Given the description of an element on the screen output the (x, y) to click on. 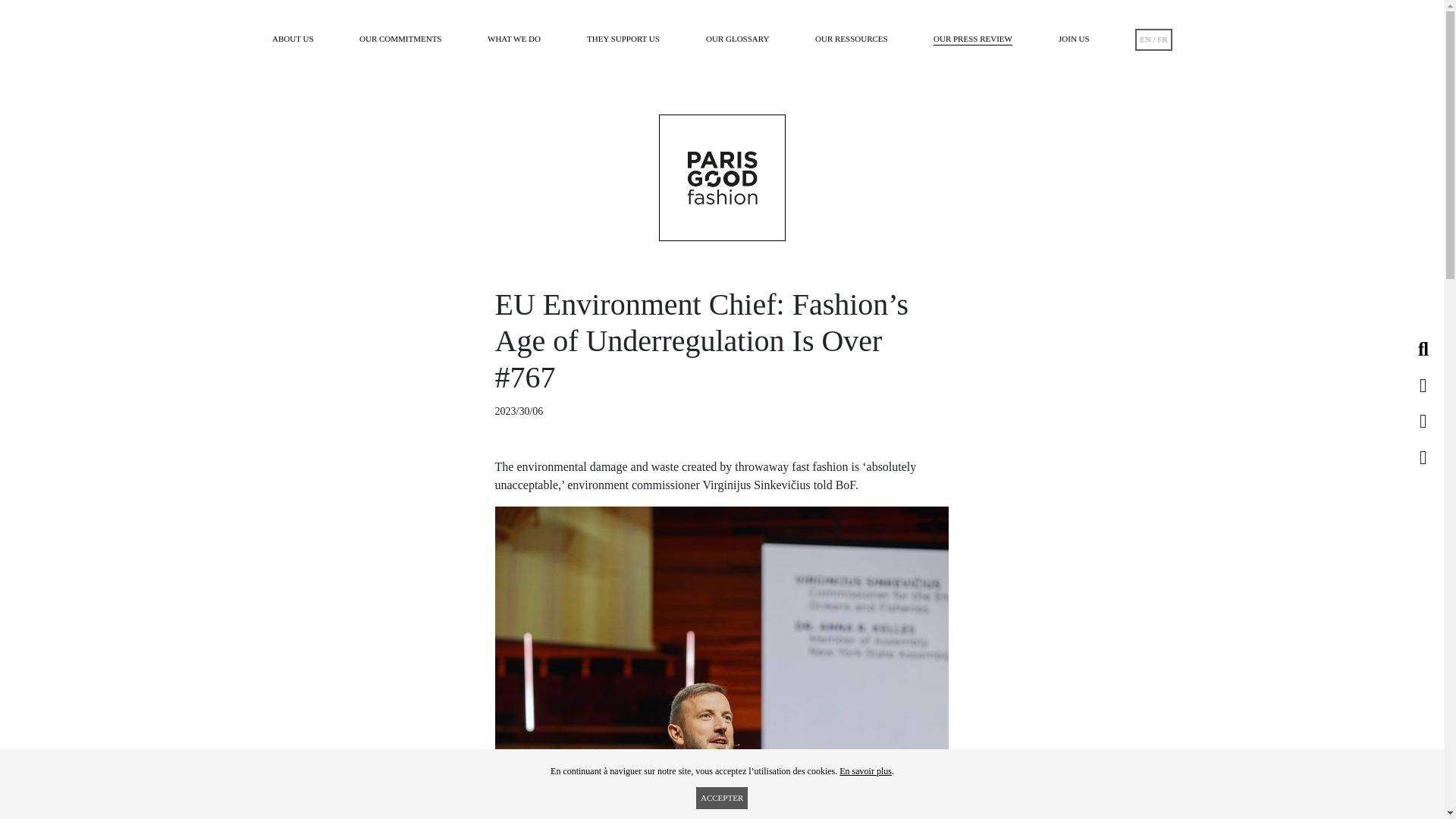
WHAT WE DO (513, 38)
OUR RESSOURCES (851, 38)
OUR PRESS REVIEW (972, 38)
OUR GLOSSARY (737, 38)
THEY SUPPORT US (622, 38)
ABOUT US (293, 38)
JOIN US (1073, 38)
OUR COMMITMENTS (400, 38)
